Given the description of an element on the screen output the (x, y) to click on. 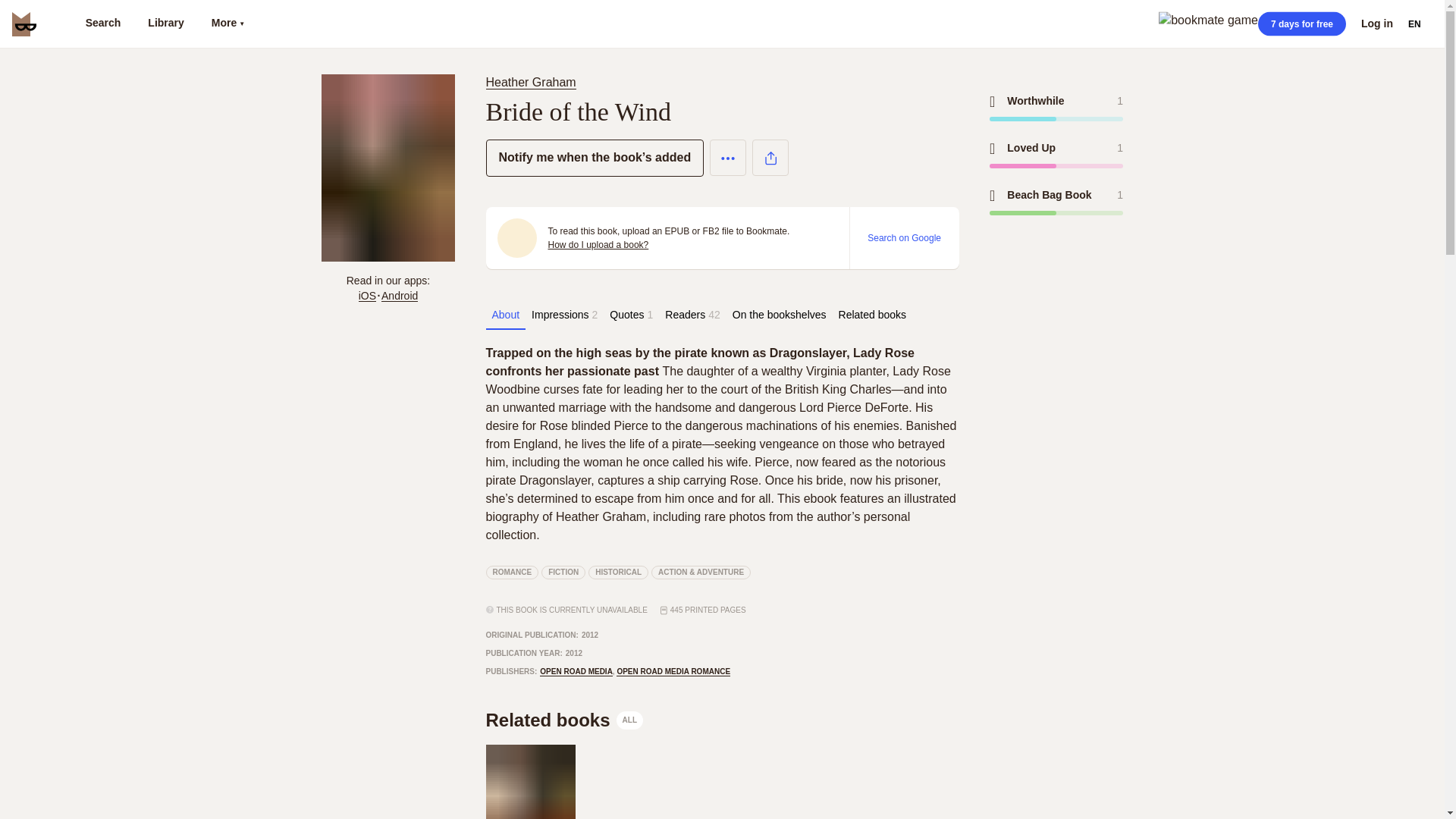
ROMANCE (511, 572)
OPEN ROAD MEDIA ROMANCE (672, 671)
About (504, 314)
Search on Google (903, 237)
HISTORICAL (617, 572)
Quotes1 (631, 314)
OPEN ROAD MEDIA (576, 671)
On the bookshelves (529, 781)
Related books (779, 314)
